Given the description of an element on the screen output the (x, y) to click on. 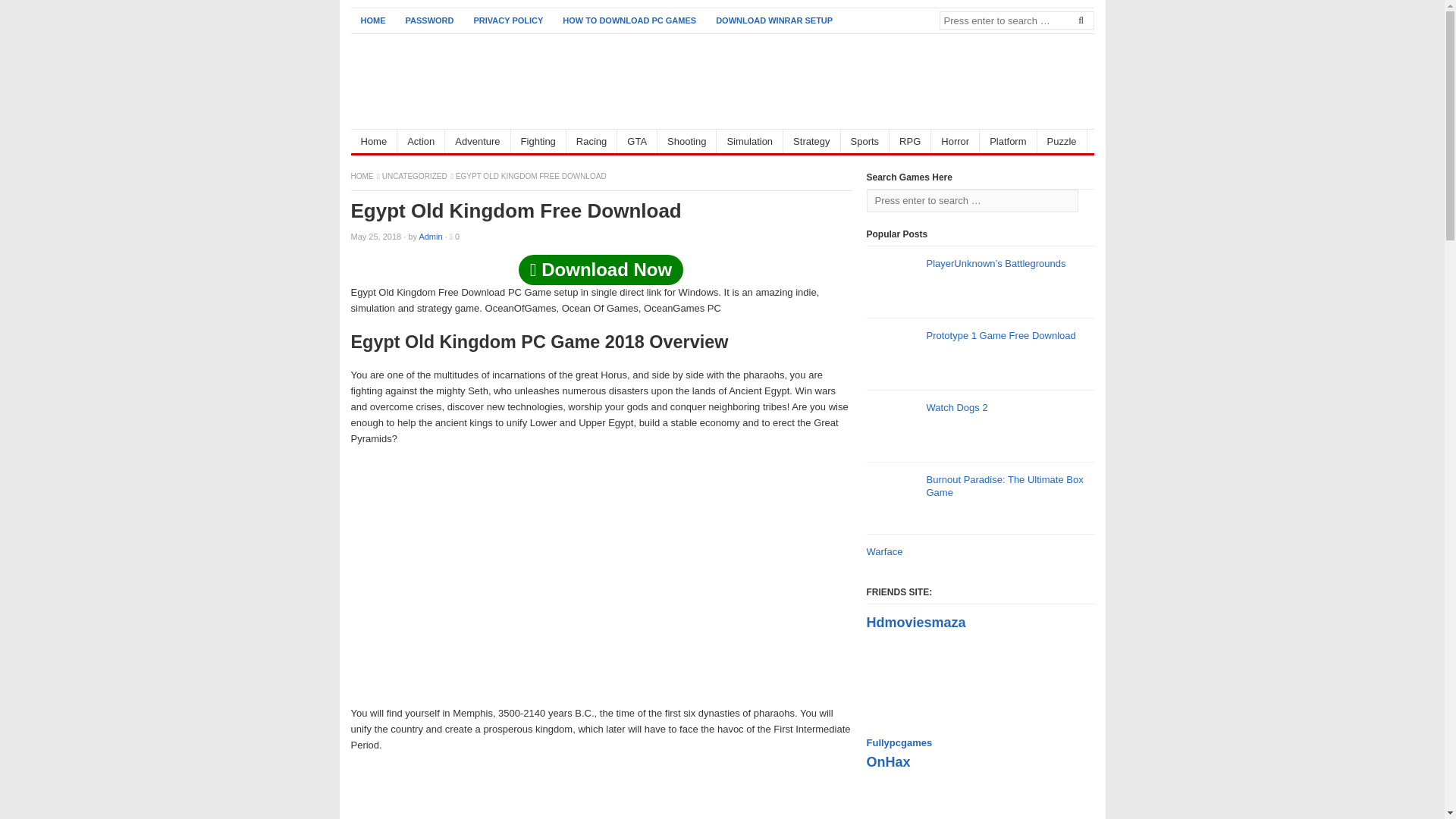
Racing (591, 141)
Admin (430, 235)
Horror (955, 141)
Action (421, 141)
Fighting (538, 141)
Platform (1007, 141)
Egypt Old Kingdom Free Download 1 (600, 575)
Simulation (749, 141)
Shooting (687, 141)
DOWNLOAD WINRAR SETUP (774, 20)
Search for: (971, 200)
Home (373, 141)
Strategy (811, 141)
HOME (362, 175)
Adventure (478, 141)
